Given the description of an element on the screen output the (x, y) to click on. 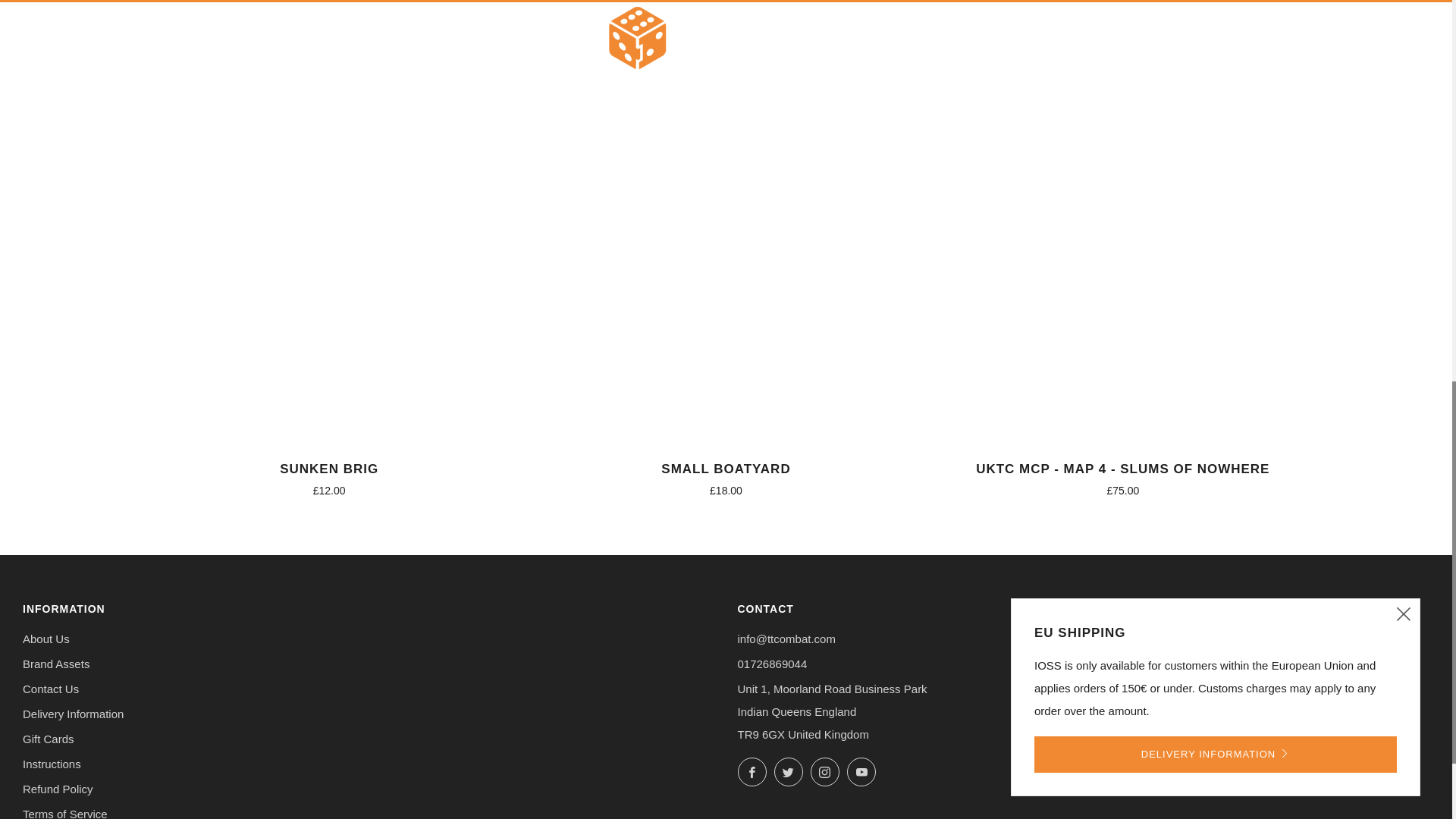
Sunken Brig (329, 476)
Small Boatyard (725, 476)
UKTC MCP - Map 4 - Slums of Nowhere (1122, 476)
